Given the description of an element on the screen output the (x, y) to click on. 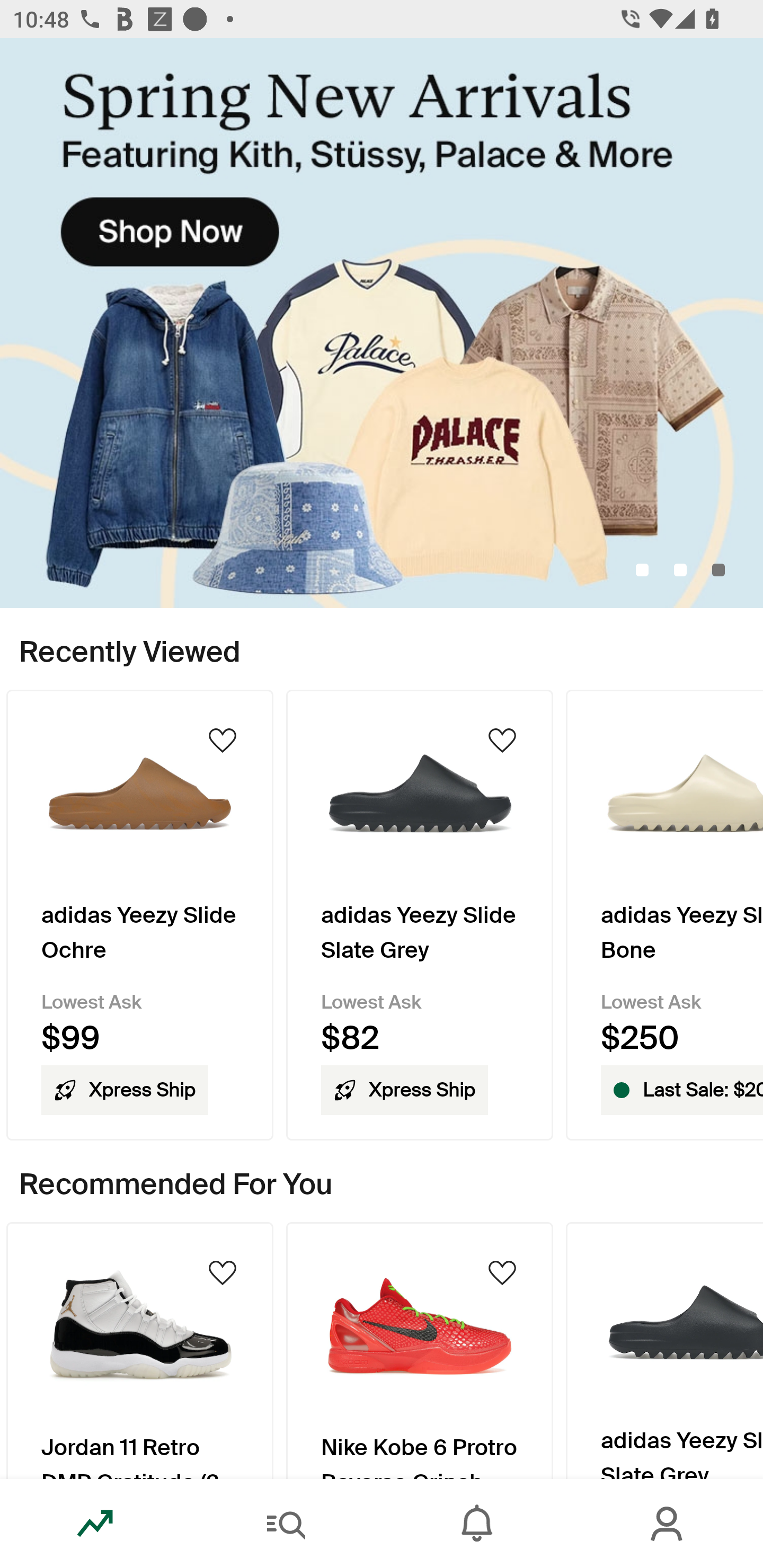
SpringNewArrivals-KithStussy_Primary_Mobile.jpg (381, 322)
Product Image Jordan 11 Retro DMP Gratitude (2023) (139, 1349)
Product Image Nike Kobe 6 Protro Reverse Grinch (419, 1349)
Product Image adidas Yeezy Slide Slate Grey (664, 1349)
Search (285, 1523)
Inbox (476, 1523)
Account (667, 1523)
